Given the description of an element on the screen output the (x, y) to click on. 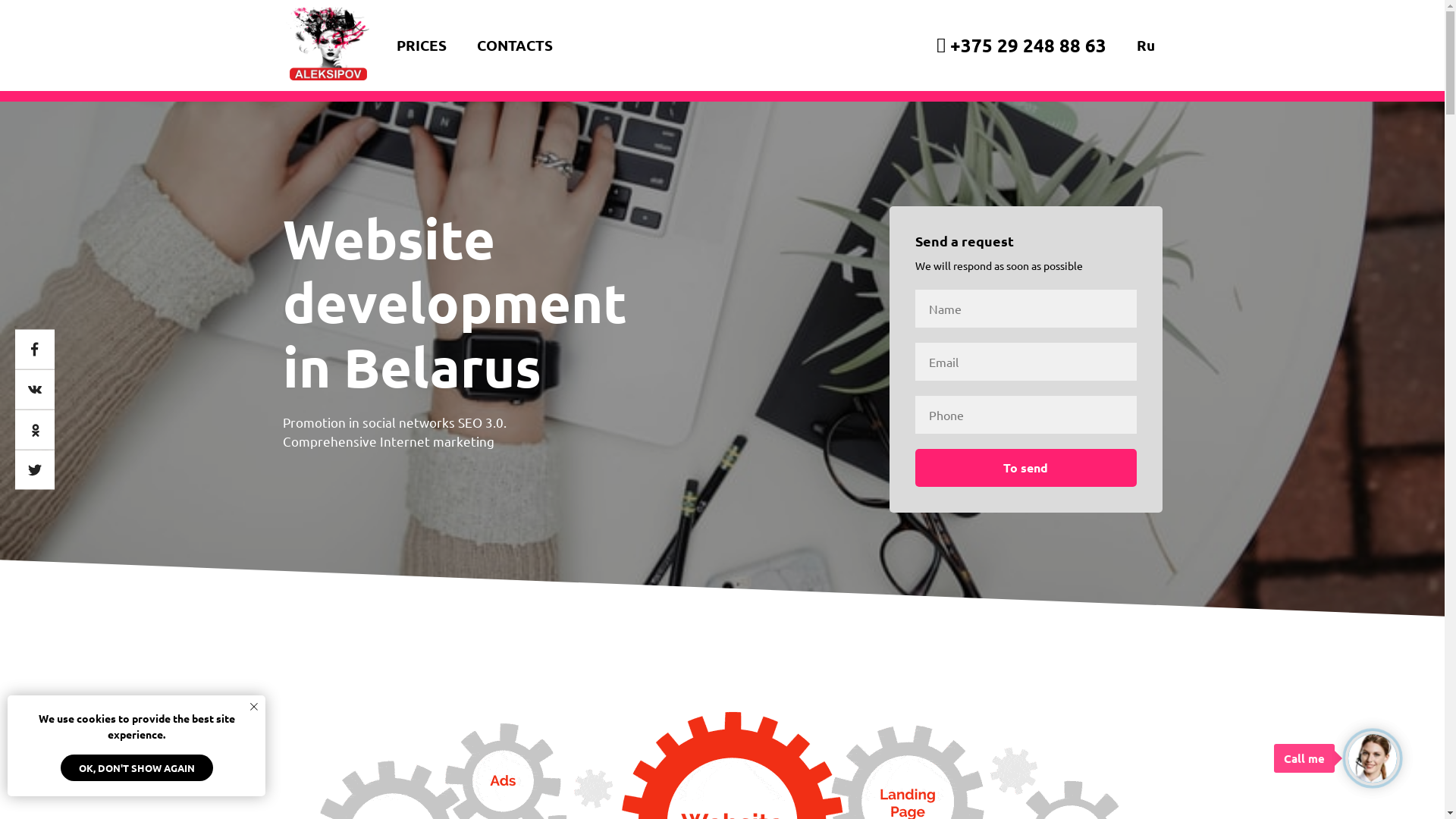
Twitter Element type: hover (34, 469)
PRICES Element type: text (420, 44)
To send Element type: text (1024, 467)
OK, DON'T SHOW AGAIN Element type: text (136, 767)
CONTACTS Element type: text (514, 44)
Ru Element type: text (1144, 44)
Facebook Element type: hover (34, 349)
